Given the description of an element on the screen output the (x, y) to click on. 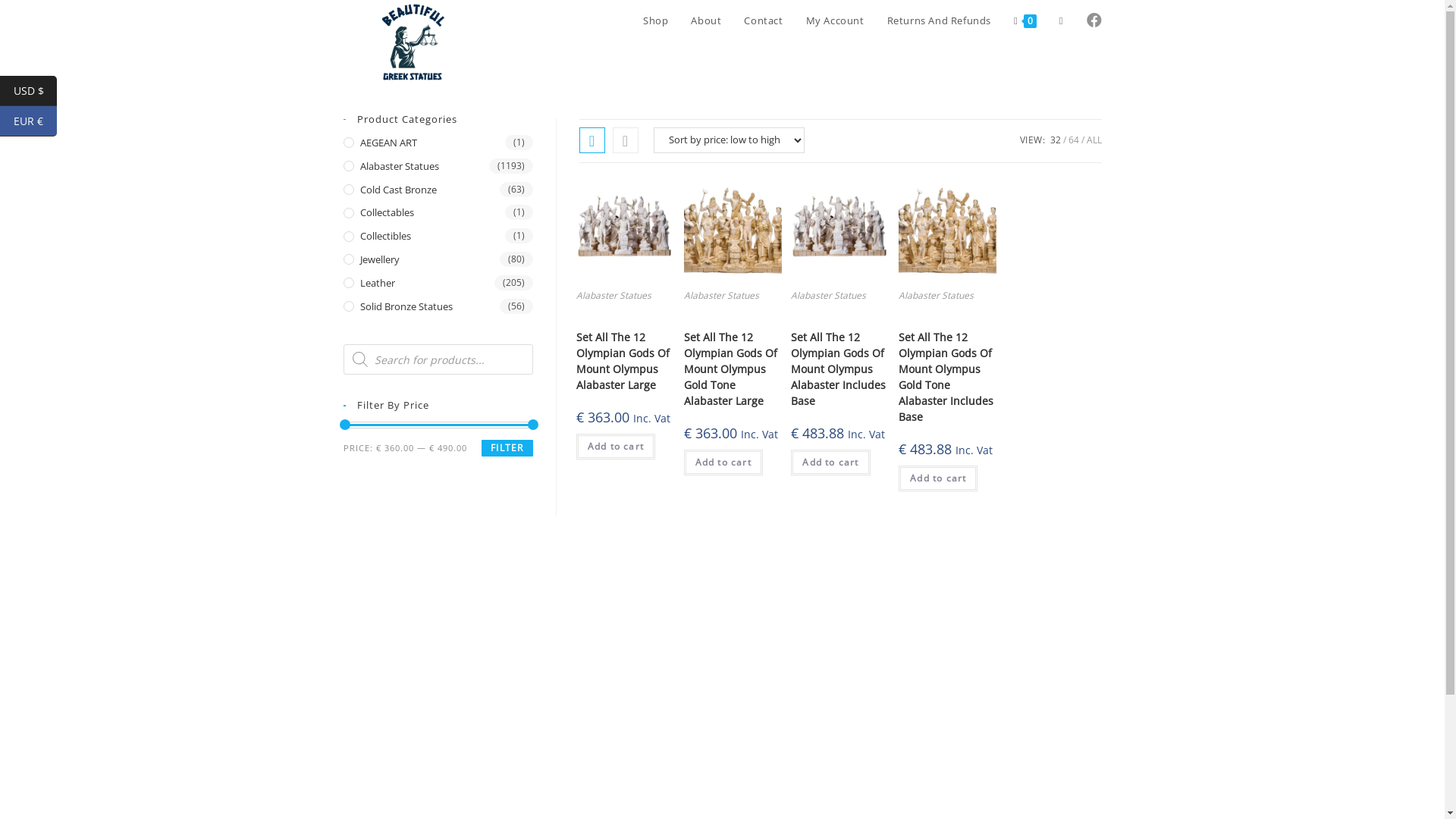
My Account Element type: text (834, 20)
AEGEAN ART Element type: text (437, 142)
Shop Element type: text (655, 20)
FILTER Element type: text (506, 447)
List view Element type: hover (625, 140)
0 Element type: text (1025, 20)
Alabaster Statues Element type: text (721, 294)
32 Element type: text (1054, 139)
Leather Element type: text (437, 283)
Grid view Element type: hover (592, 140)
About Element type: text (705, 20)
Add to cart Element type: text (937, 478)
Alabaster Statues Element type: text (935, 294)
Toggle Website Search Element type: text (1061, 20)
Add to cart Element type: text (723, 462)
Cold Cast Bronze Element type: text (437, 189)
Collectibles Element type: text (437, 236)
USD $ Element type: text (28, 90)
64 Element type: text (1072, 139)
Alabaster Statues Element type: text (437, 166)
Jewellery Element type: text (437, 259)
Alabaster Statues Element type: text (613, 294)
Add to cart Element type: text (615, 446)
Contact Element type: text (762, 20)
Add to cart Element type: text (829, 462)
Collectables Element type: text (437, 212)
Returns And Refunds Element type: text (938, 20)
ALL Element type: text (1093, 139)
Alabaster Statues Element type: text (828, 294)
Solid Bronze Statues Element type: text (437, 306)
